Given the description of an element on the screen output the (x, y) to click on. 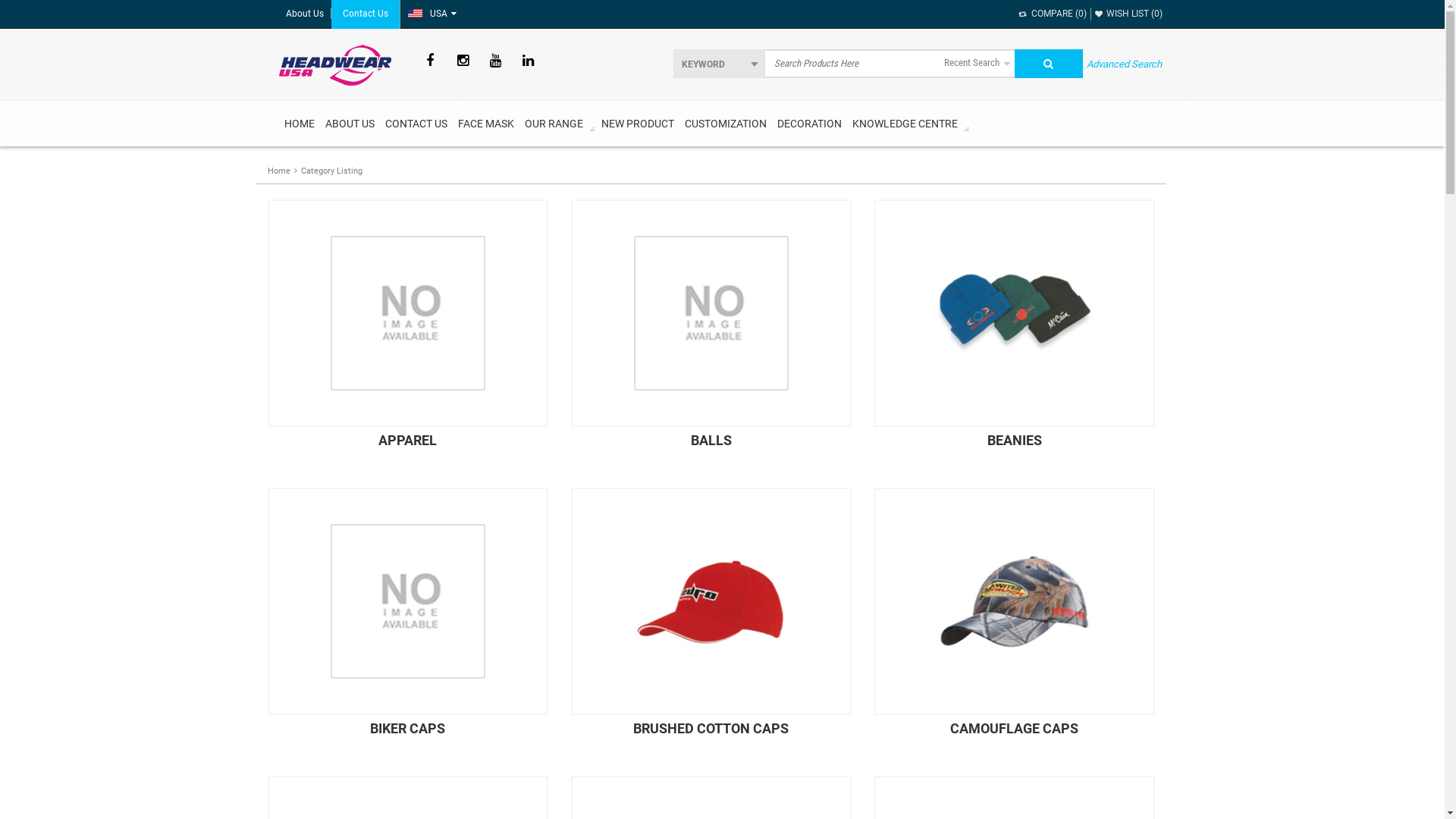
BRUSHED COTTON CAPS Element type: text (710, 621)
OUR RANGE Element type: text (552, 123)
BIKER CAPS Element type: text (406, 621)
Submit Element type: text (1048, 63)
KNOWLEDGE CENTRE Element type: text (904, 123)
About Us Element type: text (305, 13)
Recent Search Element type: text (976, 63)
NEW PRODUCT Element type: text (637, 123)
USA Element type: text (429, 13)
HOME Element type: text (299, 123)
CUSTOMIZATION Element type: text (725, 123)
APPAREL Element type: text (406, 333)
BEANIES Element type: text (1013, 333)
WISH LIST (0) Element type: text (1127, 13)
Home Element type: text (277, 170)
DECORATION Element type: text (809, 123)
BALLS Element type: text (710, 333)
COMPARE (0) Element type: text (1051, 13)
FACE MASK Element type: text (484, 123)
ABOUT US Element type: text (349, 123)
Advanced Search Element type: text (1123, 63)
CONTACT US Element type: text (415, 123)
CAMOUFLAGE CAPS Element type: text (1013, 621)
